Given the description of an element on the screen output the (x, y) to click on. 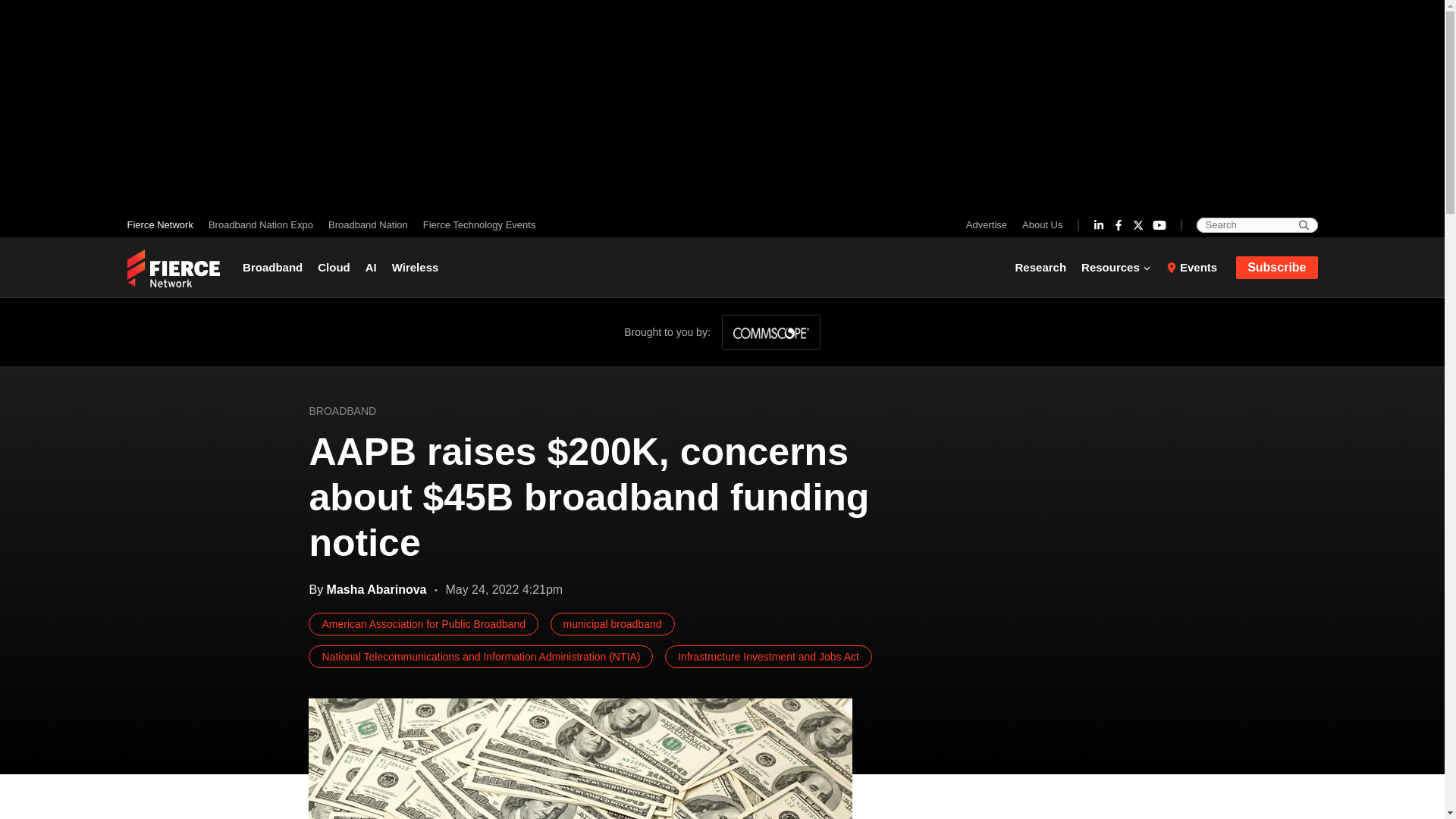
Resources (1116, 266)
About Us (1038, 225)
Research (1044, 266)
Fierce Technology Events (474, 225)
Cloud (334, 266)
Advertise (990, 225)
Wireless (415, 266)
Broadband Nation (367, 225)
Broadband (276, 266)
Broadband Nation Expo (260, 225)
Subscribe (1276, 267)
Fierce Network (164, 225)
AI (371, 266)
